Given the description of an element on the screen output the (x, y) to click on. 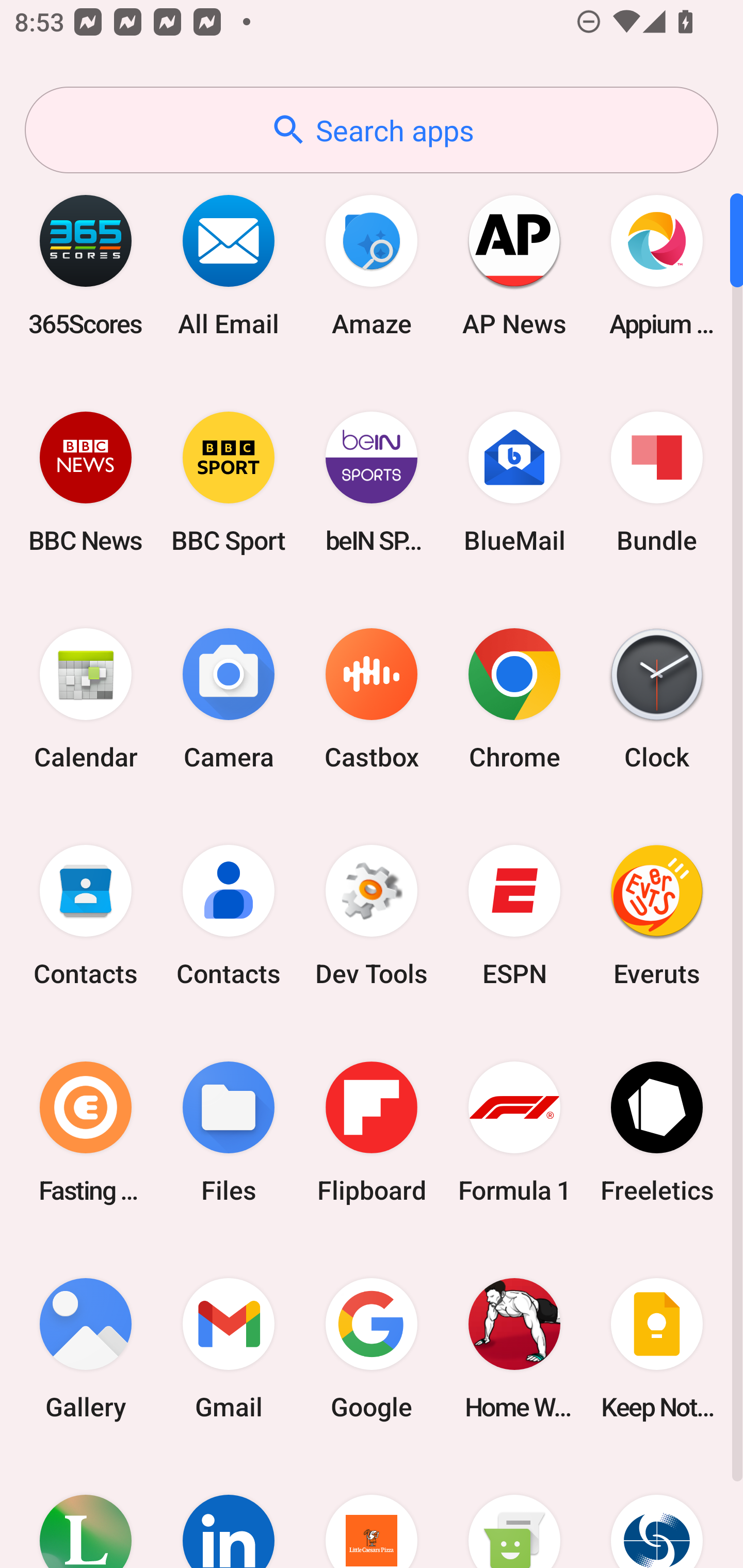
  Search apps (371, 130)
365Scores (85, 264)
All Email (228, 264)
Amaze (371, 264)
AP News (514, 264)
Appium Settings (656, 264)
BBC News (85, 482)
BBC Sport (228, 482)
beIN SPORTS (371, 482)
BlueMail (514, 482)
Bundle (656, 482)
Calendar (85, 699)
Camera (228, 699)
Castbox (371, 699)
Chrome (514, 699)
Clock (656, 699)
Contacts (85, 915)
Contacts (228, 915)
Dev Tools (371, 915)
ESPN (514, 915)
Everuts (656, 915)
Fasting Coach (85, 1131)
Files (228, 1131)
Flipboard (371, 1131)
Formula 1 (514, 1131)
Freeletics (656, 1131)
Gallery (85, 1348)
Gmail (228, 1348)
Google (371, 1348)
Home Workout (514, 1348)
Keep Notes (656, 1348)
